Given the description of an element on the screen output the (x, y) to click on. 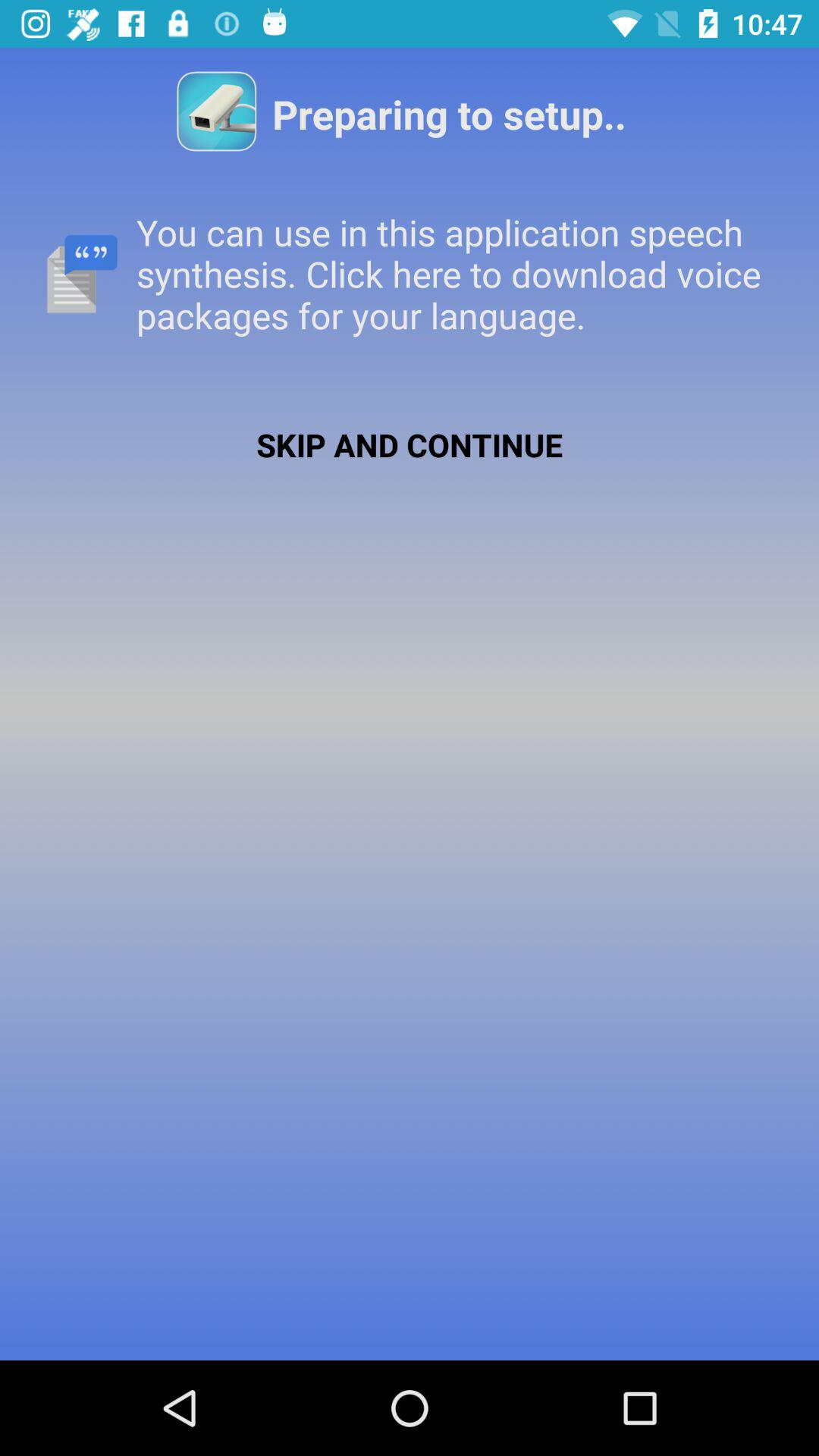
jump until the you can use app (409, 273)
